Given the description of an element on the screen output the (x, y) to click on. 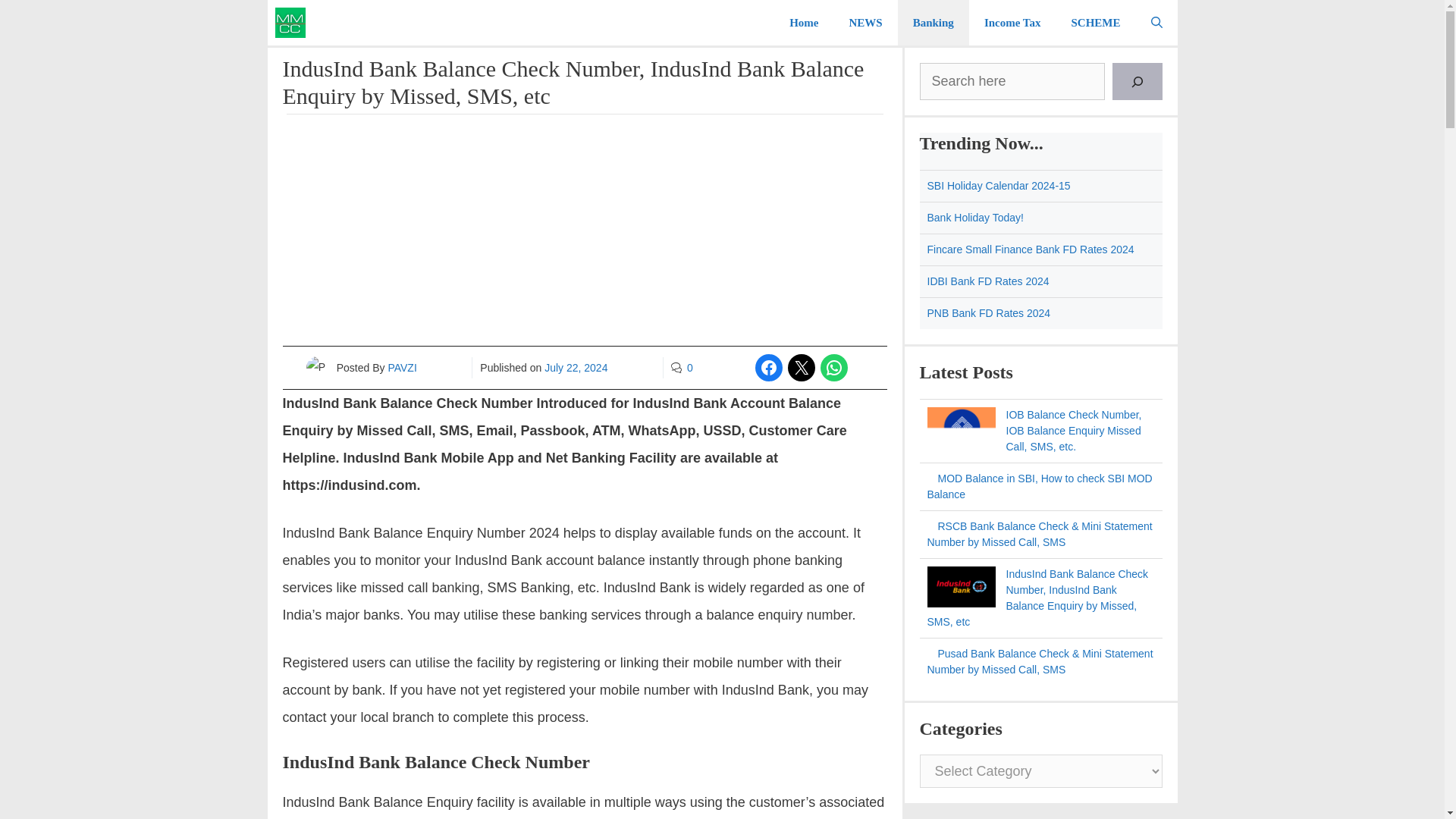
MOD Balance in SBI, How to check SBI MOD Balance (1038, 486)
Income Tax (1013, 22)
July 22, 2024 (575, 367)
PAVZI (401, 367)
Banking (933, 22)
Facebook (769, 367)
Fincare Small Finance Bank FD Rates 2024  (1031, 249)
My Money Chit Chat (294, 22)
SCHEME (1095, 22)
Bank Holiday Today! (974, 217)
0 (690, 367)
IDBI Bank FD Rates 2024 (987, 281)
My Money Chit Chat (289, 22)
PNB Bank FD Rates 2024 (987, 313)
